Given the description of an element on the screen output the (x, y) to click on. 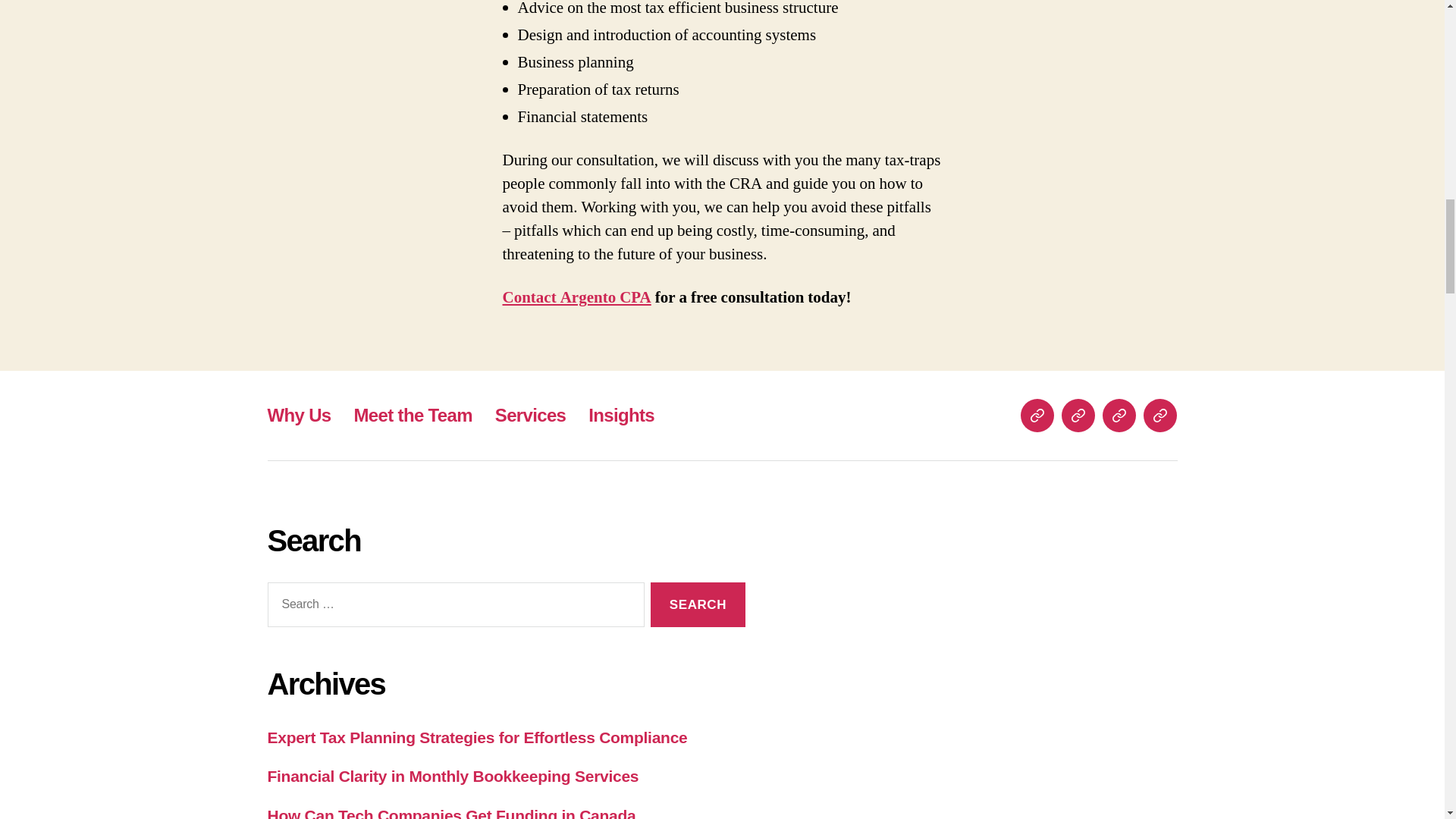
Contact (1159, 415)
Services (1077, 415)
Why Us (298, 414)
Meet the Team (1037, 415)
Services (530, 414)
Search (697, 604)
Contact Argento CPA (576, 297)
Meet the Team (412, 414)
Insights (620, 414)
Insights (1118, 415)
Search (697, 604)
Financial Clarity in Monthly Bookkeeping Services (452, 775)
Expert Tax Planning Strategies for Effortless Compliance (476, 737)
Search (697, 604)
How Can Tech Companies Get Funding in Canada (450, 812)
